Given the description of an element on the screen output the (x, y) to click on. 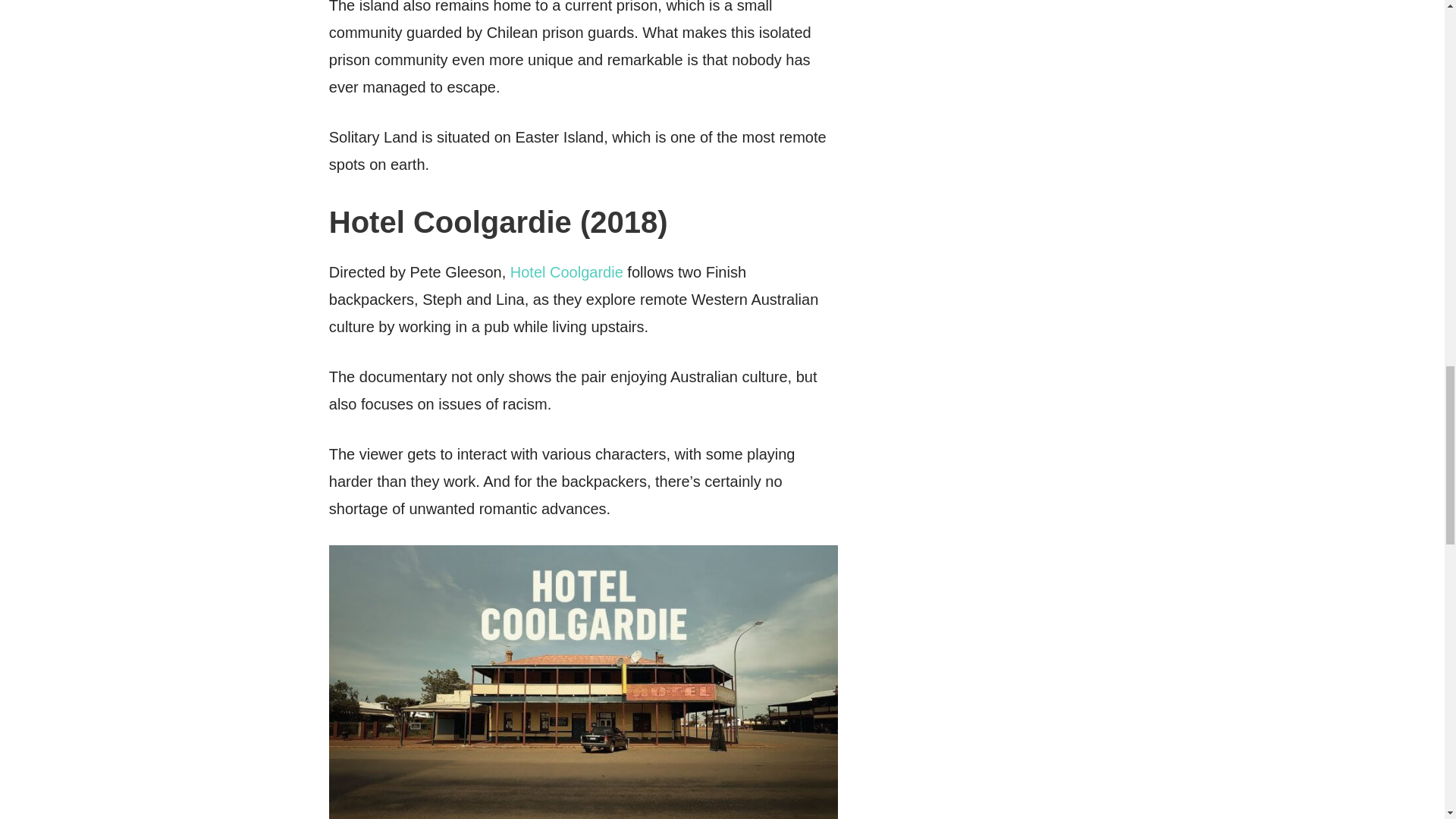
Hotel Coolgardie (567, 271)
